Given the description of an element on the screen output the (x, y) to click on. 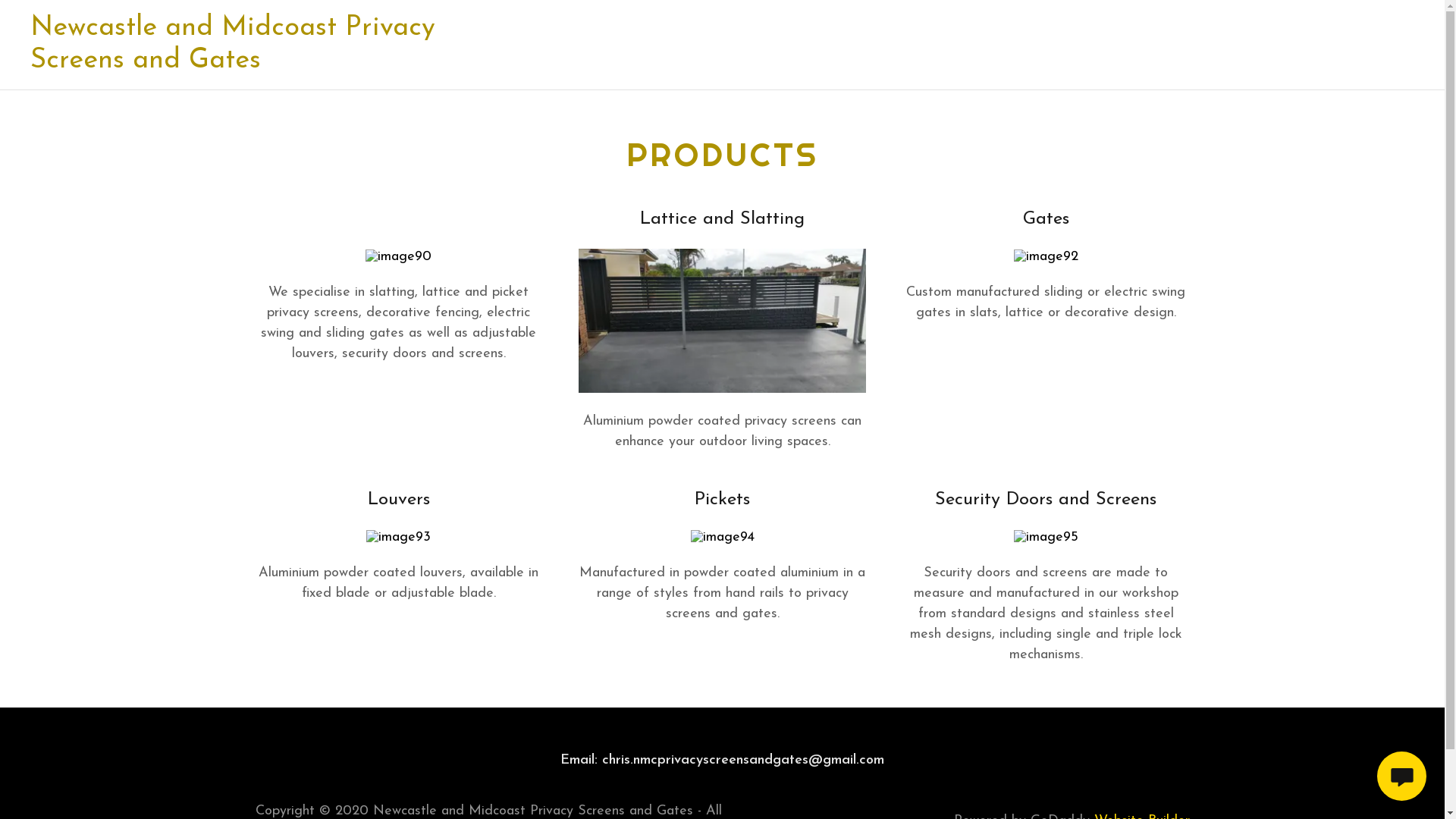
Newcastle and Midcoast Privacy Screens and Gates Element type: text (246, 63)
